Given the description of an element on the screen output the (x, y) to click on. 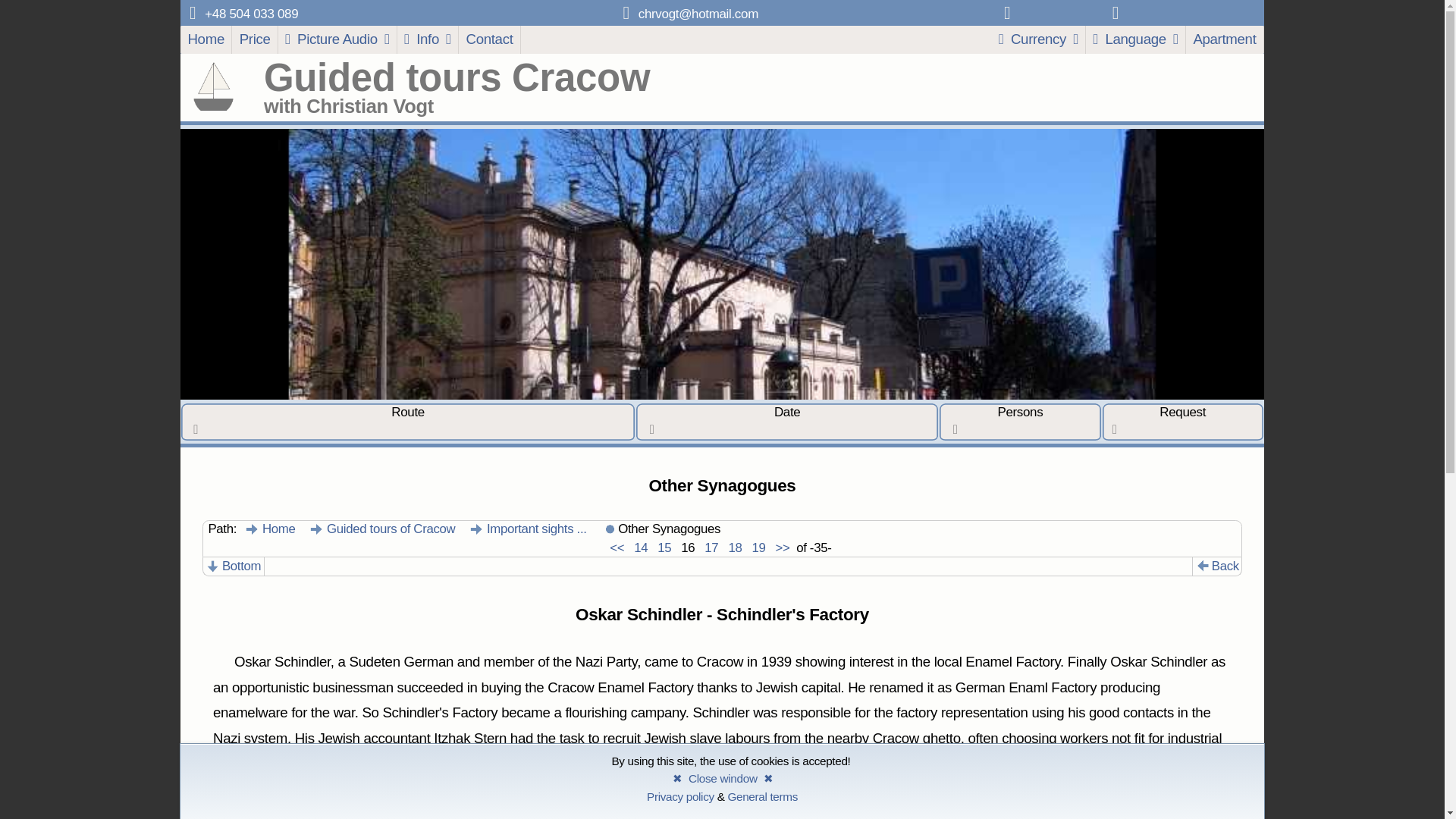
Info (427, 39)
Home (205, 39)
Contact (489, 39)
Picture Audio (337, 39)
Price (254, 39)
Home (270, 529)
